Given the description of an element on the screen output the (x, y) to click on. 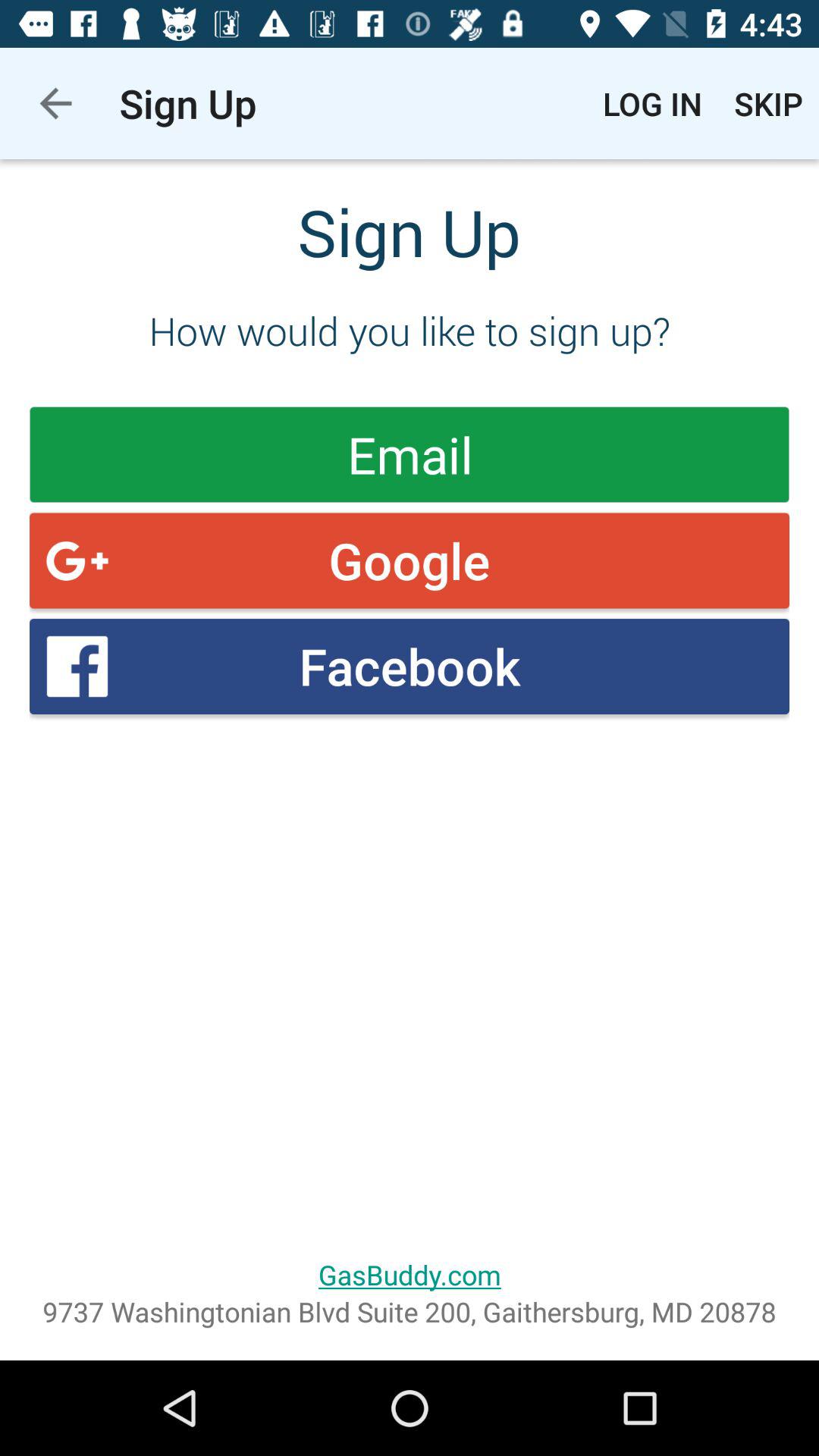
tap item above the how would you item (652, 103)
